Given the description of an element on the screen output the (x, y) to click on. 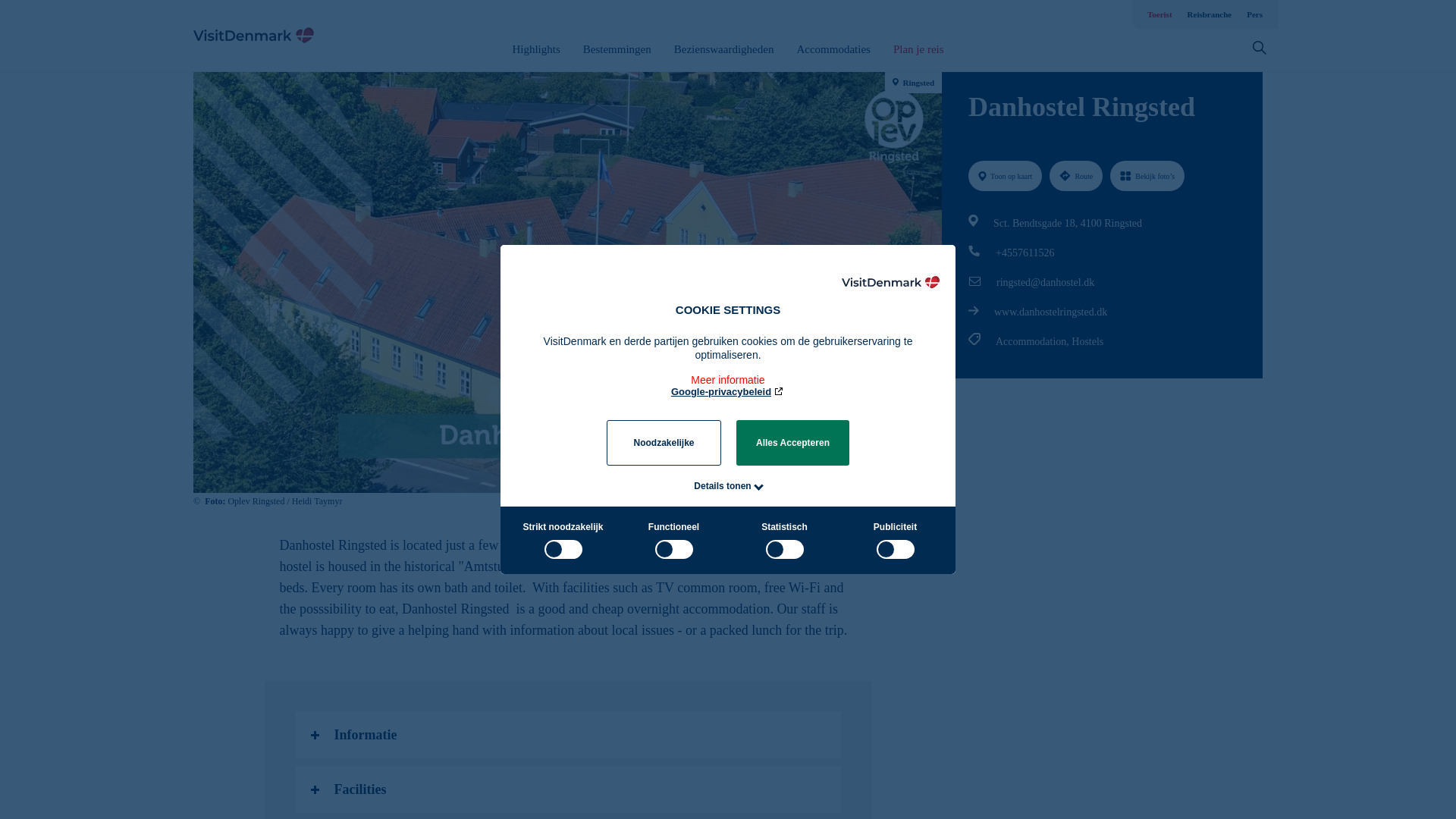
Details tonen (722, 485)
Alles Accepteren (792, 443)
Path (973, 310)
Noodzakelijke (663, 443)
Google-privacybeleid (727, 391)
Path (973, 250)
Meer informatie (727, 373)
